Given the description of an element on the screen output the (x, y) to click on. 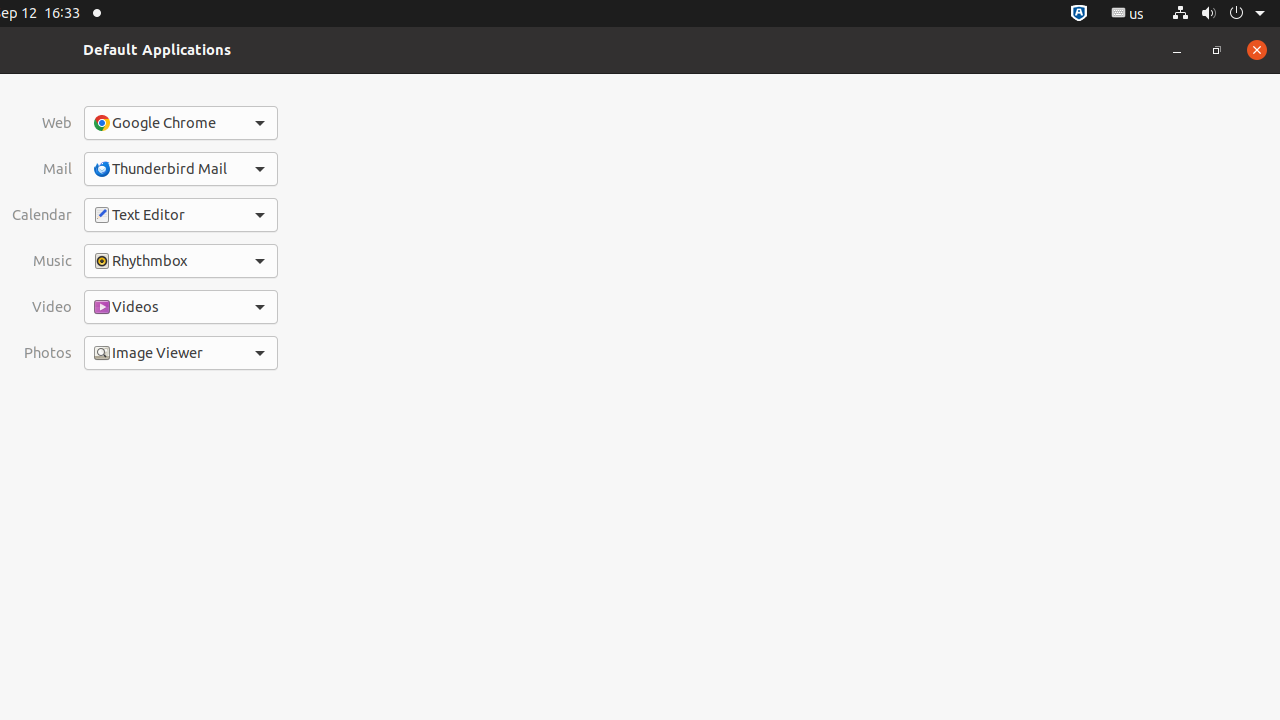
Video Element type: label (42, 307)
Close Element type: push-button (1257, 50)
Mail Element type: label (42, 169)
Music Element type: label (42, 261)
